Given the description of an element on the screen output the (x, y) to click on. 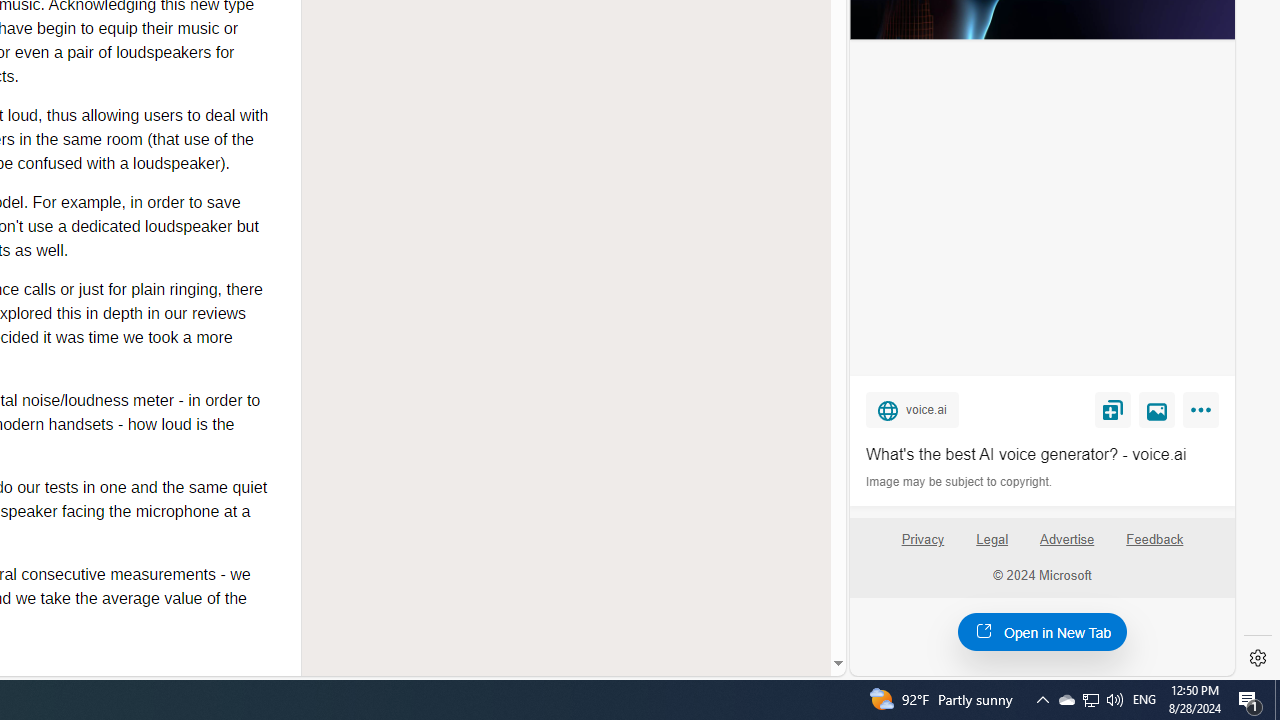
View image (1157, 409)
voice.ai (912, 409)
Open in New Tab (1042, 631)
Legal (992, 547)
Image may be subject to copyright. (959, 481)
Save (1112, 409)
